Given the description of an element on the screen output the (x, y) to click on. 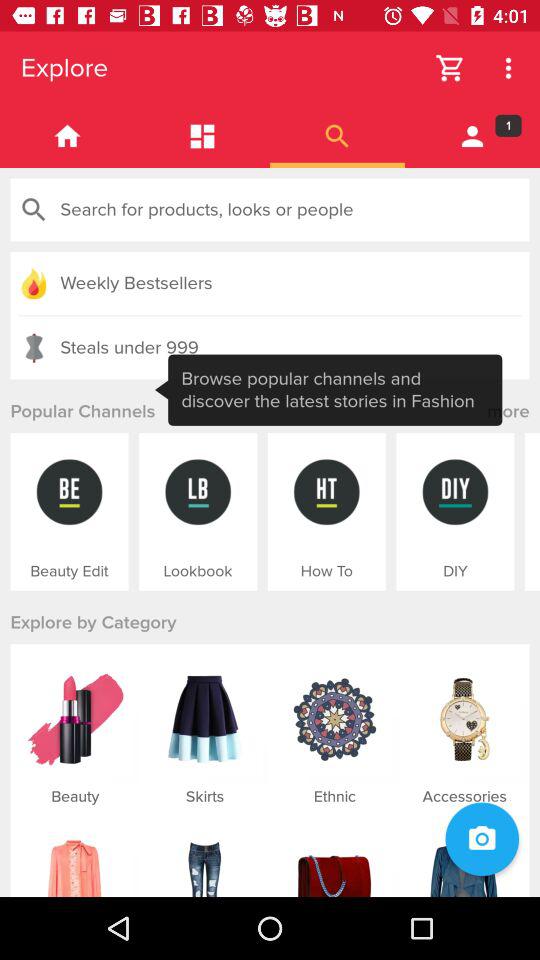
search for products (269, 209)
